Given the description of an element on the screen output the (x, y) to click on. 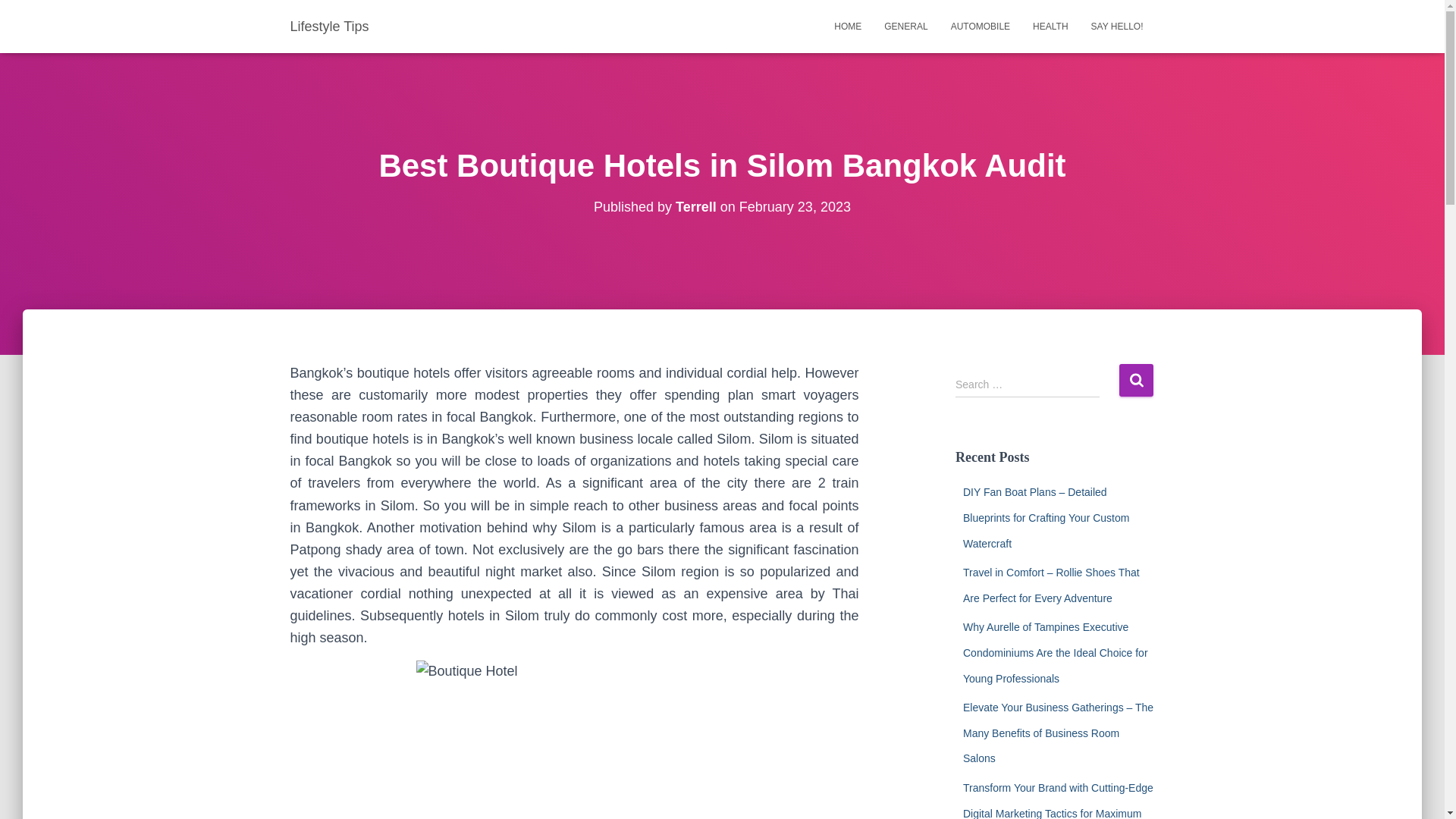
Say Hello! (1117, 26)
Lifestyle Tips (329, 26)
HOME (847, 26)
Search (1136, 379)
Search (1136, 379)
AUTOMOBILE (980, 26)
General (905, 26)
HEALTH (1050, 26)
Lifestyle Tips (329, 26)
Home (847, 26)
